Given the description of an element on the screen output the (x, y) to click on. 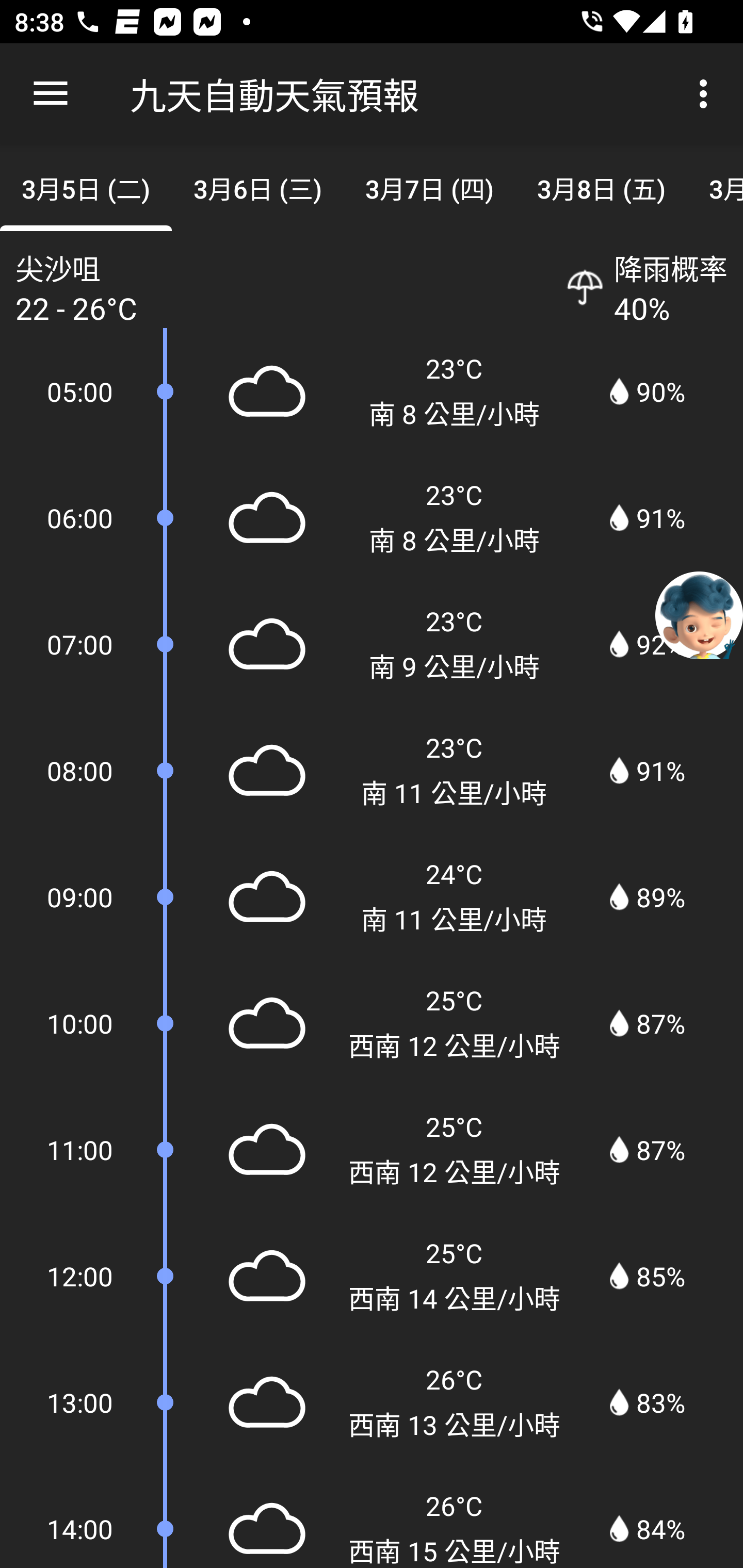
向上瀏覽 (50, 93)
更多選項 (706, 93)
3月6日 (三) (257, 187)
3月7日 (四) (429, 187)
3月8日 (五) (601, 187)
聊天機械人 (699, 614)
